Given the description of an element on the screen output the (x, y) to click on. 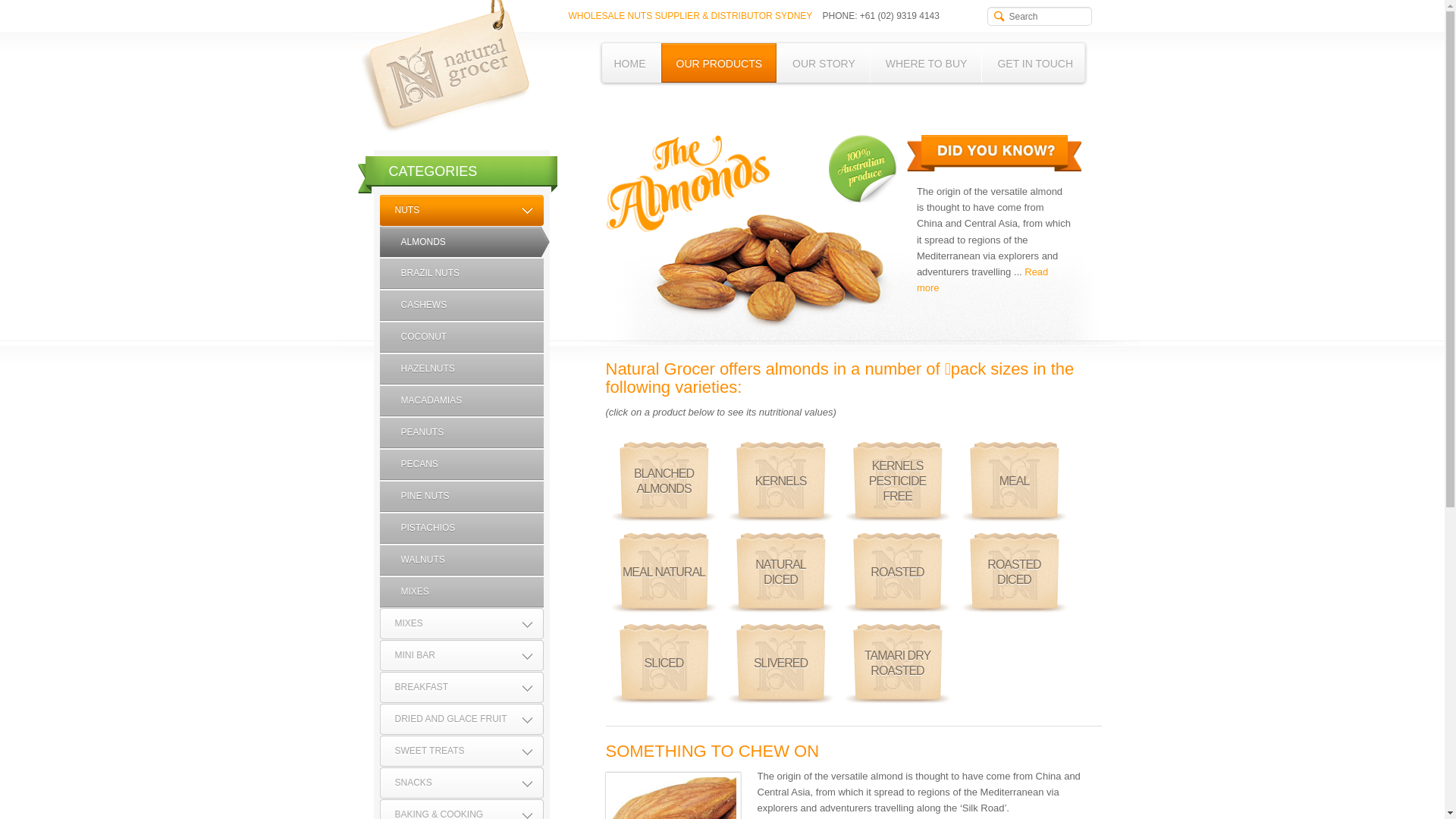
MACADAMIAS Element type: text (460, 400)
SLICED Element type: text (664, 663)
BRAZIL NUTS Element type: text (460, 272)
SKIP TO PRIMARY CONTENT Element type: text (679, 48)
MIXES Element type: text (460, 623)
ALMONDS Element type: text (464, 241)
MINI BAR Element type: text (460, 655)
ROASTED DICED Element type: text (1014, 572)
BLANCHED ALMONDS Element type: text (664, 481)
WALNUTS Element type: text (460, 559)
CASHEWS Element type: text (460, 304)
OUR STORY Element type: text (823, 63)
ROASTED Element type: text (897, 572)
SWEET TREATS Element type: text (460, 750)
Read more Element type: text (982, 279)
MIXES Element type: text (460, 591)
PINE NUTS Element type: text (460, 495)
NATURAL DICED Element type: text (781, 572)
NUTS Element type: text (460, 209)
SLIVERED Element type: text (781, 663)
KERNELS Element type: text (781, 481)
MEAL Element type: text (1014, 481)
Natural Grocer Element type: text (441, 67)
DRIED AND GLACE FRUIT Element type: text (460, 718)
COCONUT Element type: text (460, 336)
PECANS Element type: text (460, 464)
HAZELNUTS Element type: text (460, 368)
TAMARI DRY ROASTED Element type: text (897, 663)
PISTACHIOS Element type: text (460, 527)
OUR PRODUCTS Element type: text (719, 63)
SNACKS Element type: text (460, 782)
PEANUTS Element type: text (460, 432)
BREAKFAST Element type: text (460, 686)
WHERE TO BUY Element type: text (926, 63)
Search Element type: text (21, 7)
MEAL NATURAL Element type: text (664, 572)
KERNELS PESTICIDE FREE Element type: text (897, 481)
HOME Element type: text (630, 63)
SKIP TO SECONDARY CONTENT Element type: text (689, 48)
GET IN TOUCH Element type: text (1035, 63)
